Given the description of an element on the screen output the (x, y) to click on. 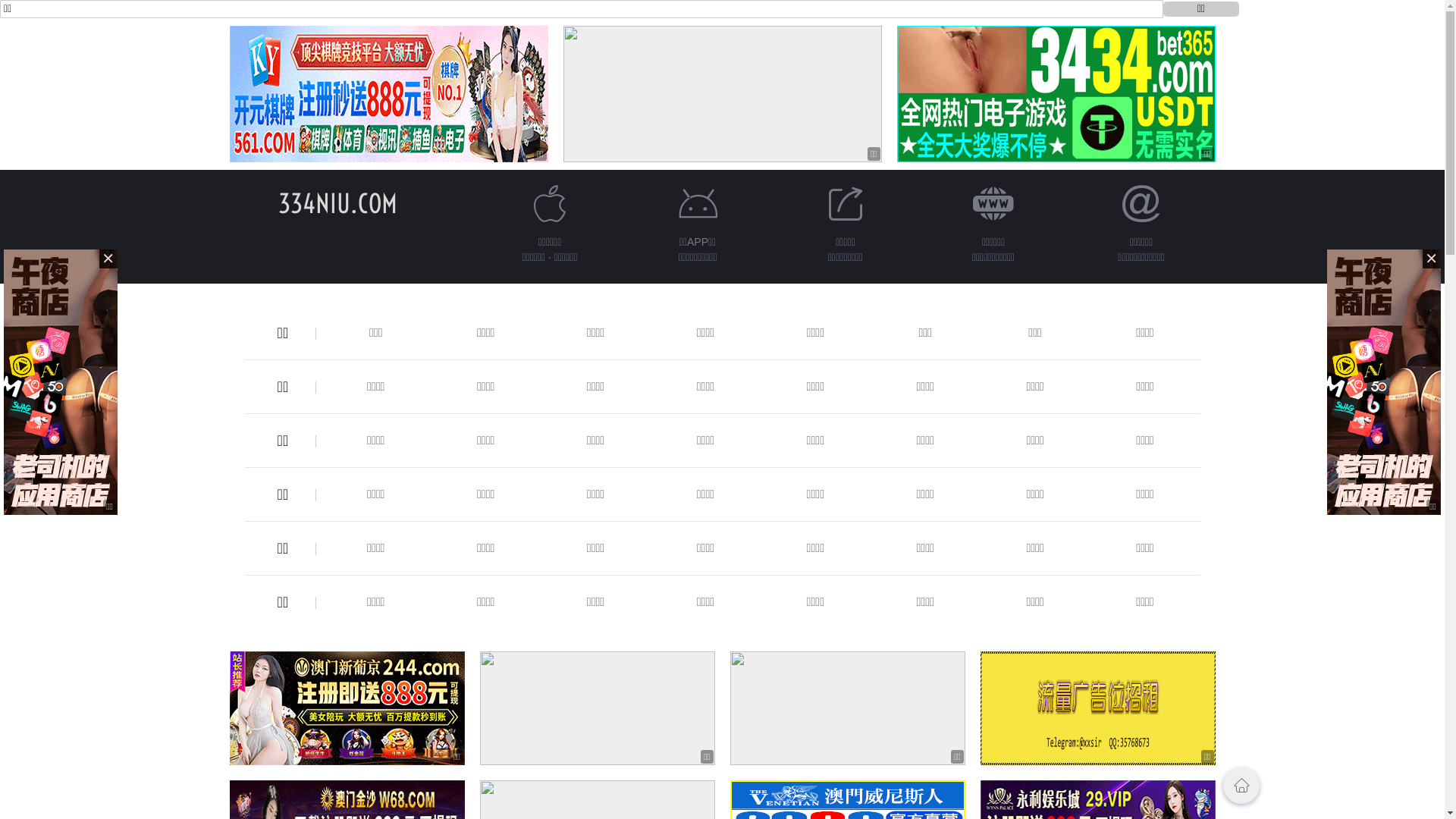
334NIU.COM Element type: text (337, 203)
